Given the description of an element on the screen output the (x, y) to click on. 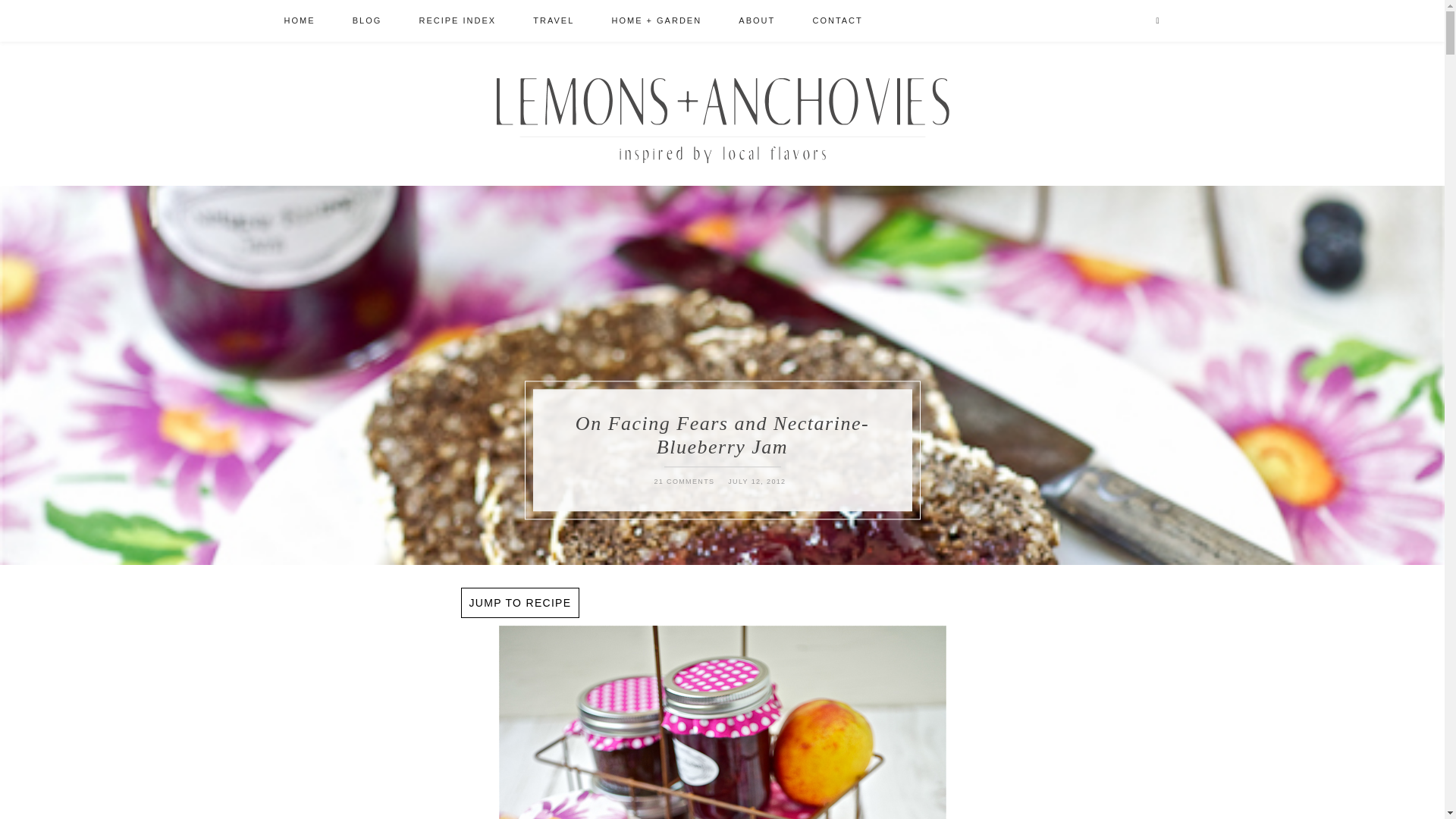
21 COMMENTS (683, 482)
HOME (298, 20)
RECIPE INDEX (456, 20)
TRAVEL (553, 20)
ABOUT (757, 20)
Nectarine-Blueberry Jam (722, 722)
BLOG (367, 20)
CONTACT (836, 20)
JUMP TO RECIPE (520, 603)
